Given the description of an element on the screen output the (x, y) to click on. 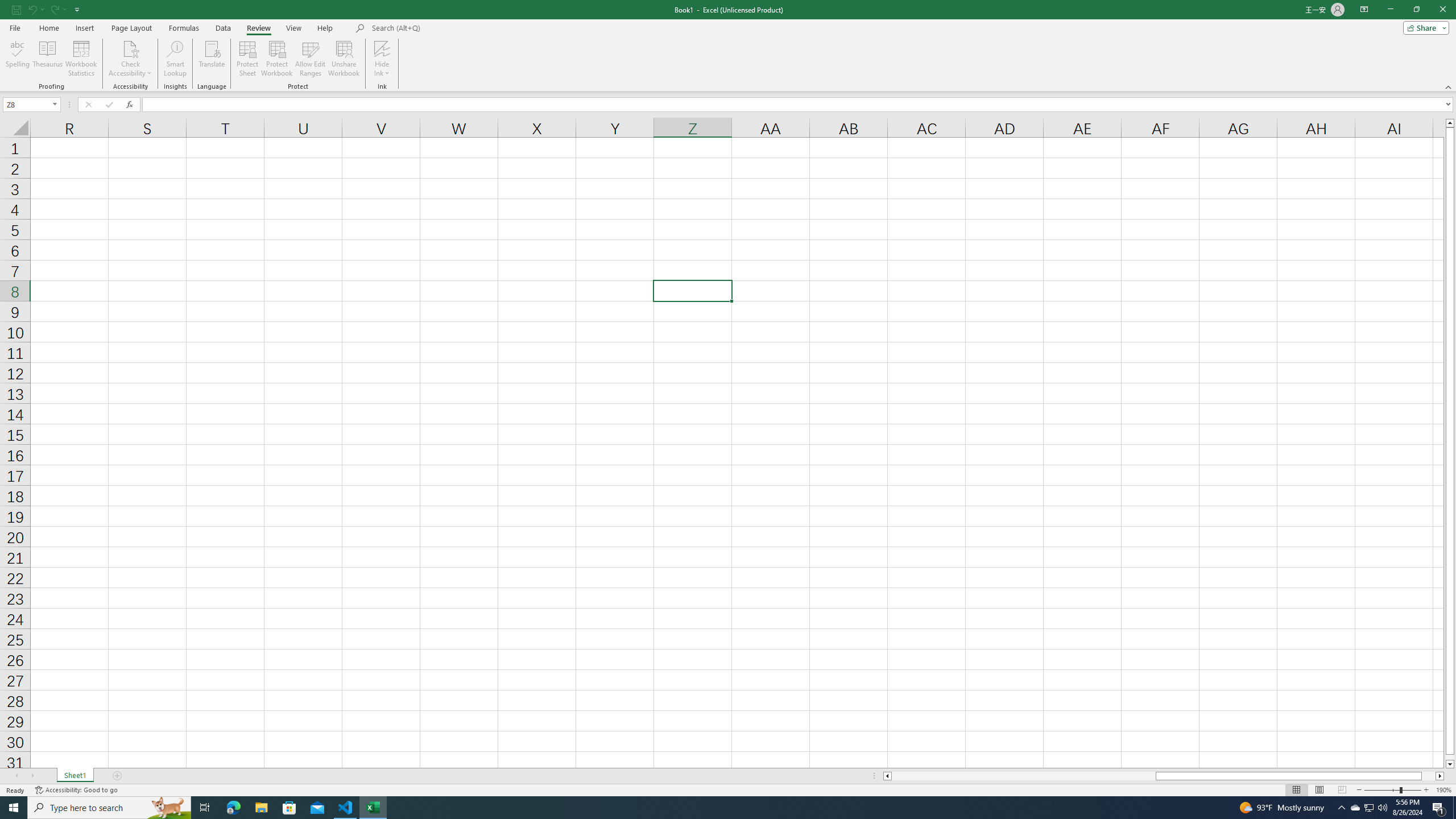
Zoom Out (1381, 790)
Save (16, 9)
Page Break Preview (1342, 790)
Line up (1449, 122)
Review (258, 28)
Line down (1449, 764)
Sheet1 (74, 775)
Page right (1428, 775)
File Tab (15, 27)
Smart Lookup (175, 58)
Page down (1449, 757)
Allow Edit Ranges (310, 58)
Scroll Left (16, 775)
